Given the description of an element on the screen output the (x, y) to click on. 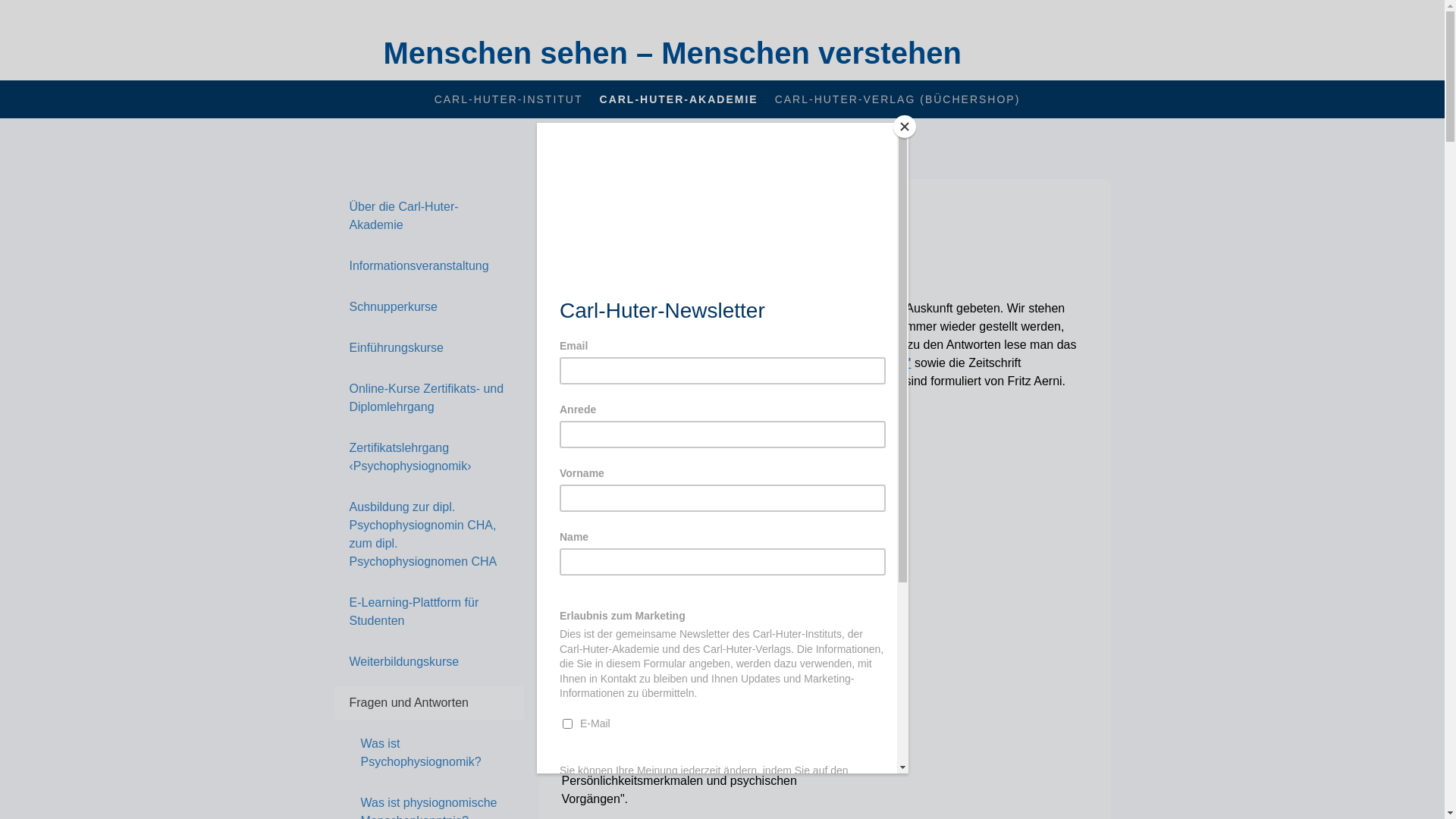
Was ist Psychophysiognomik? Element type: text (428, 752)
CARL-HUTER-AKADEMIE Element type: text (678, 99)
Fragen und Antworten Element type: text (746, 206)
Informationsveranstaltung Element type: text (428, 265)
"Gesichter sprechen" Element type: text (848, 362)
Carl-Huter-Akademie Element type: text (621, 206)
"Lehrbuch der Menschenkenntnis" Element type: text (658, 362)
Online-Kurse Zertifikats- und Diplomlehrgang Element type: text (428, 397)
PHYSIOGNOMIE UND CHARAKTER Element type: text (660, 380)
CARL-HUTER-INSTITUT Element type: text (508, 99)
Fragen und Antworten Element type: text (428, 702)
Weiterbildungskurse Element type: text (428, 661)
Schnupperkurse Element type: text (428, 306)
